Given the description of an element on the screen output the (x, y) to click on. 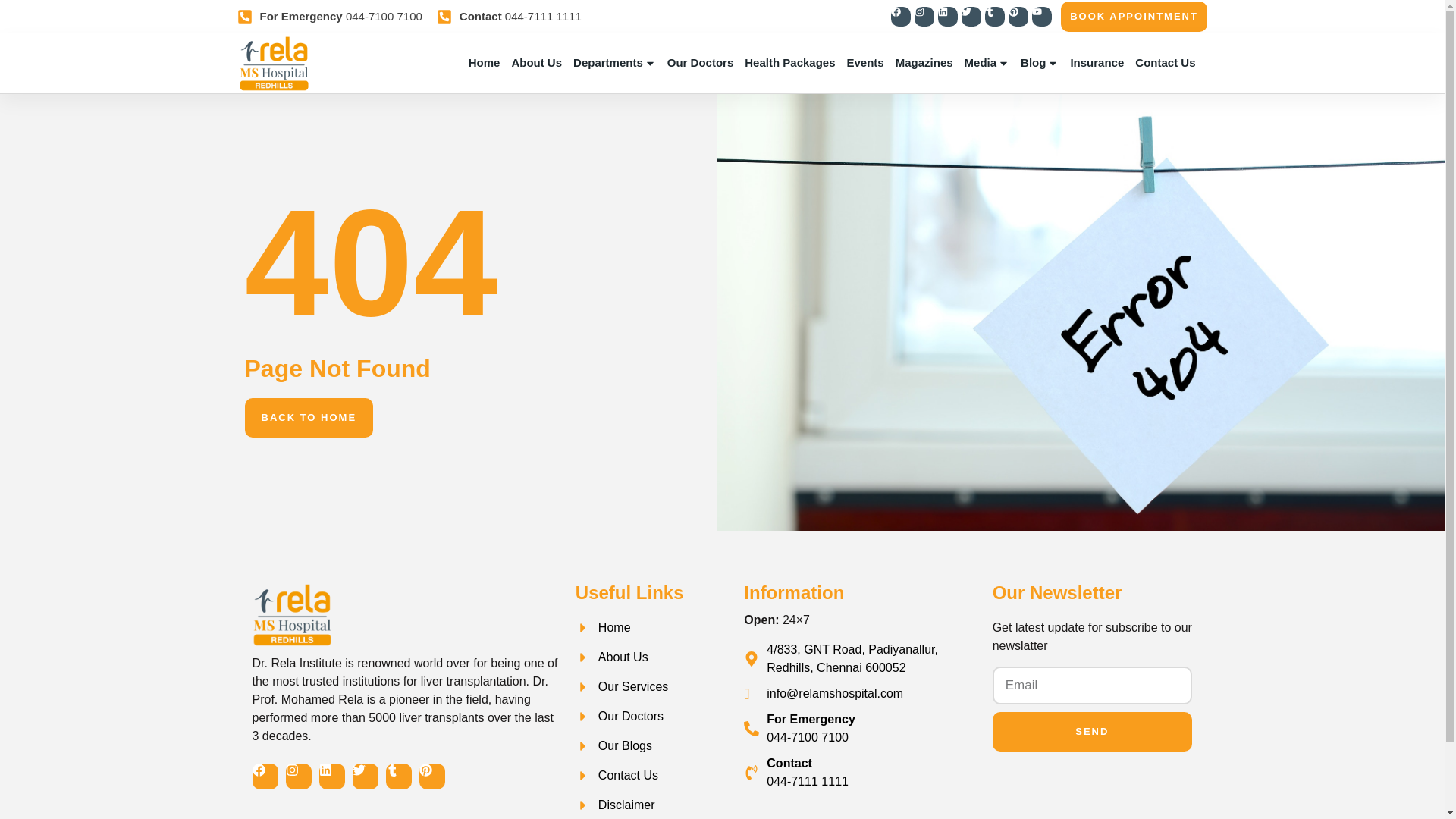
BOOK APPOINTMENT (1134, 16)
Home (484, 62)
Events (865, 62)
About Us (536, 62)
Media (986, 62)
Magazines (924, 62)
For Emergency 044-7100 7100 (328, 16)
Departments (615, 62)
Our Doctors (700, 62)
Health Packages (789, 62)
